Given the description of an element on the screen output the (x, y) to click on. 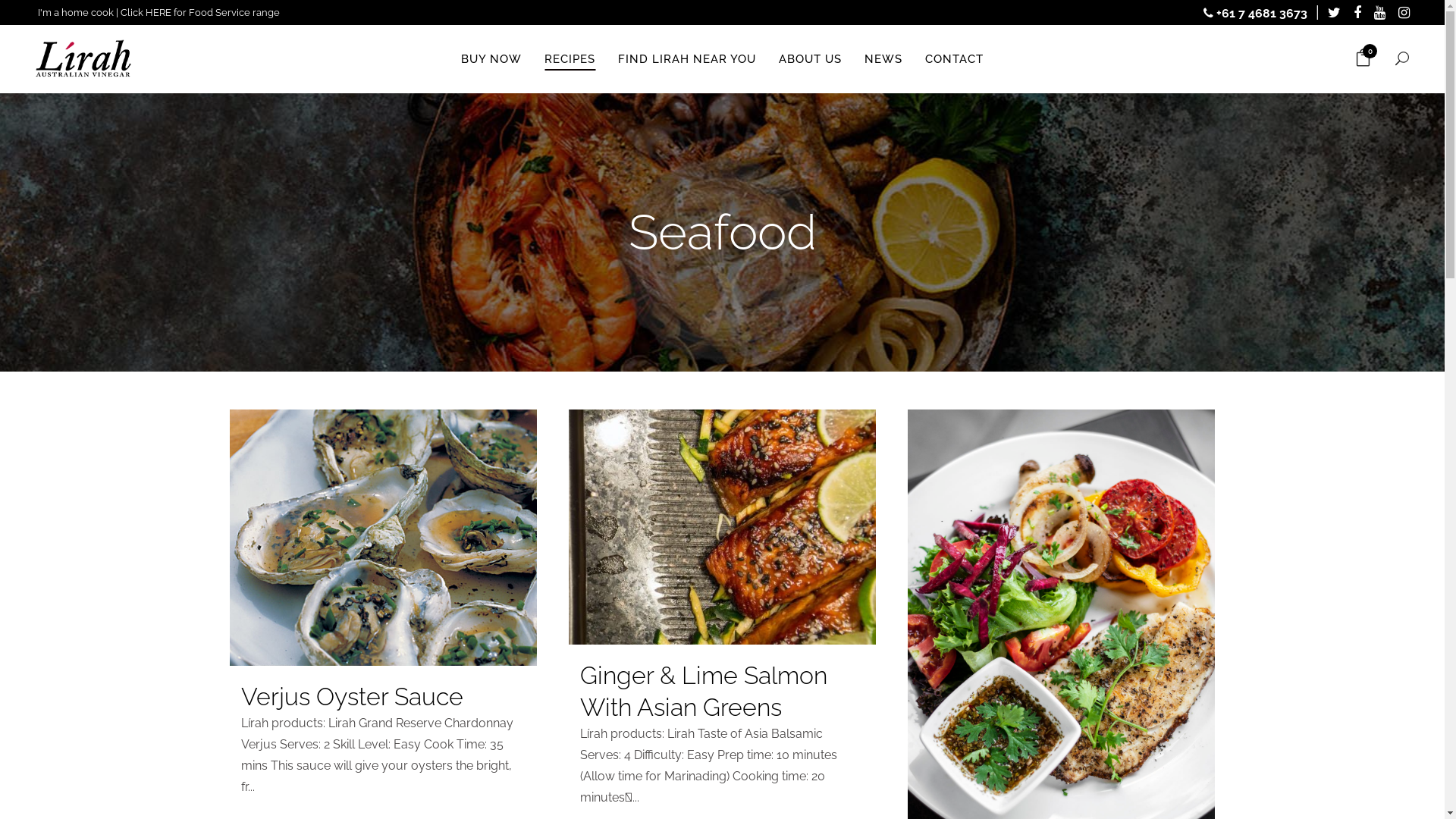
Ginger & Lime Salmon With Asian Greens Element type: text (702, 691)
Verjus Oyster Sauce Element type: text (352, 696)
0 Element type: text (1362, 58)
BUY NOW Element type: text (491, 59)
CONTACT Element type: text (953, 59)
ABOUT US Element type: text (810, 59)
RECIPES Element type: text (569, 59)
+61 7 4681 3673 Element type: text (1254, 13)
NEWS Element type: text (883, 59)
I'm a home cook Element type: text (75, 12)
FIND LIRAH NEAR YOU Element type: text (686, 59)
Click HERE for Food Service range Element type: text (199, 12)
